Given the description of an element on the screen output the (x, y) to click on. 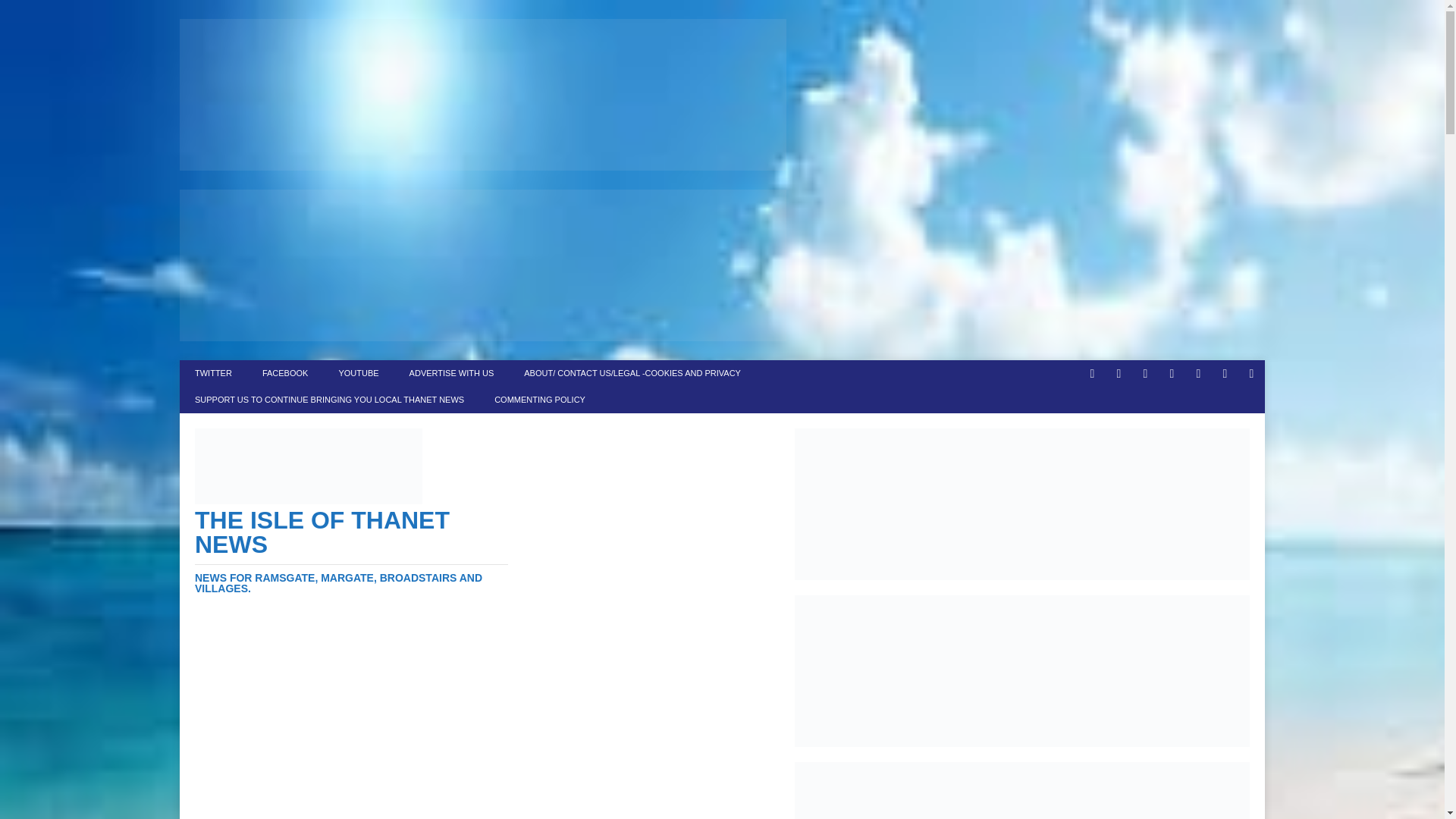
YOUTUBE (358, 373)
FACEBOOK (285, 373)
SUPPORT US TO CONTINUE BRINGING YOU LOCAL THANET NEWS (329, 399)
COMMENTING POLICY (539, 399)
ADVERTISE WITH US (451, 373)
The Isle Of Thanet News (351, 550)
TWITTER (213, 373)
